Given the description of an element on the screen output the (x, y) to click on. 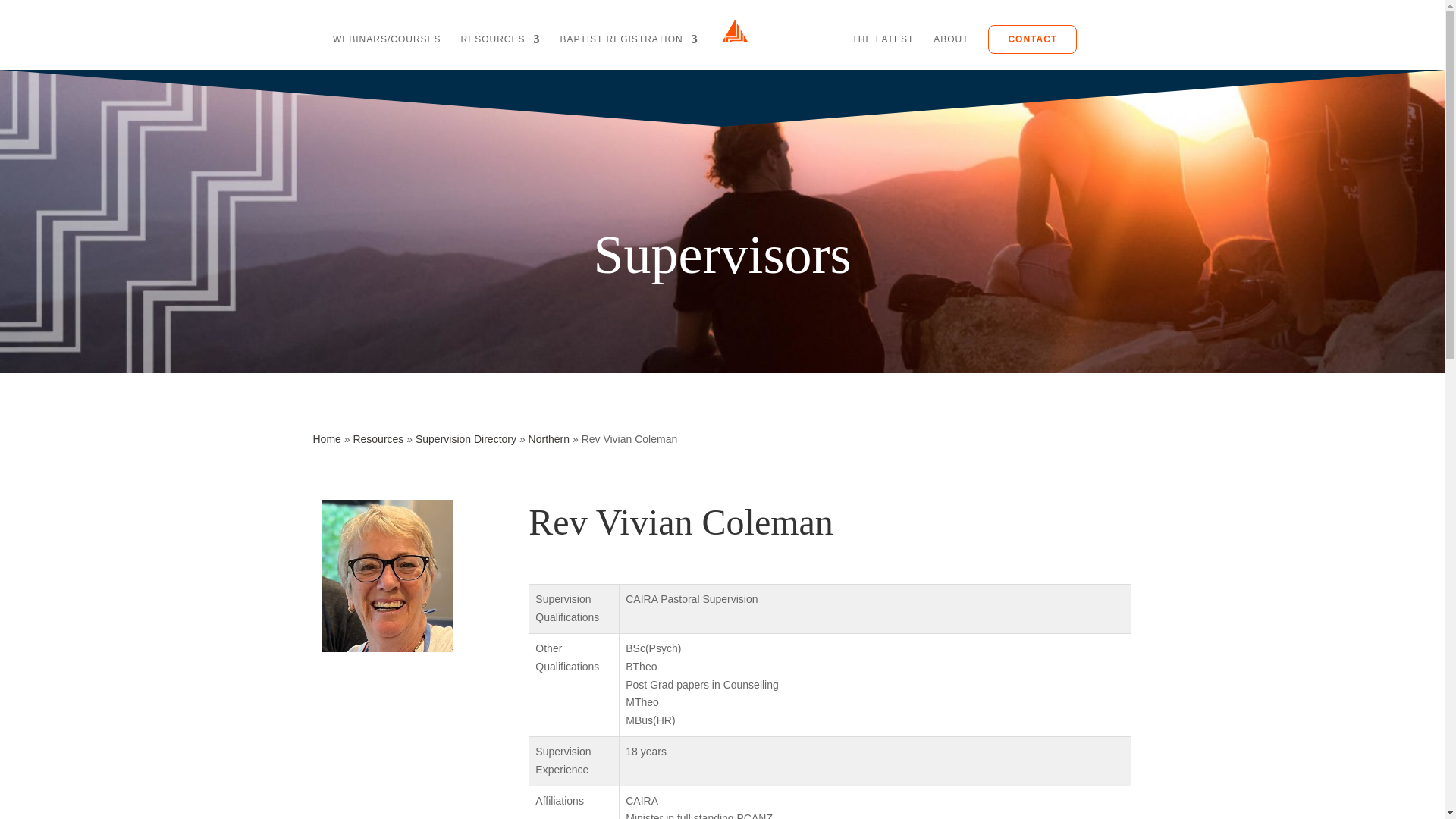
Supervisors template 200 x 200 (388, 575)
RESOURCES (500, 51)
ABOUT (950, 51)
BAPTIST REGISTRATION (628, 51)
CONTACT (1032, 39)
THE LATEST (882, 51)
